Given the description of an element on the screen output the (x, y) to click on. 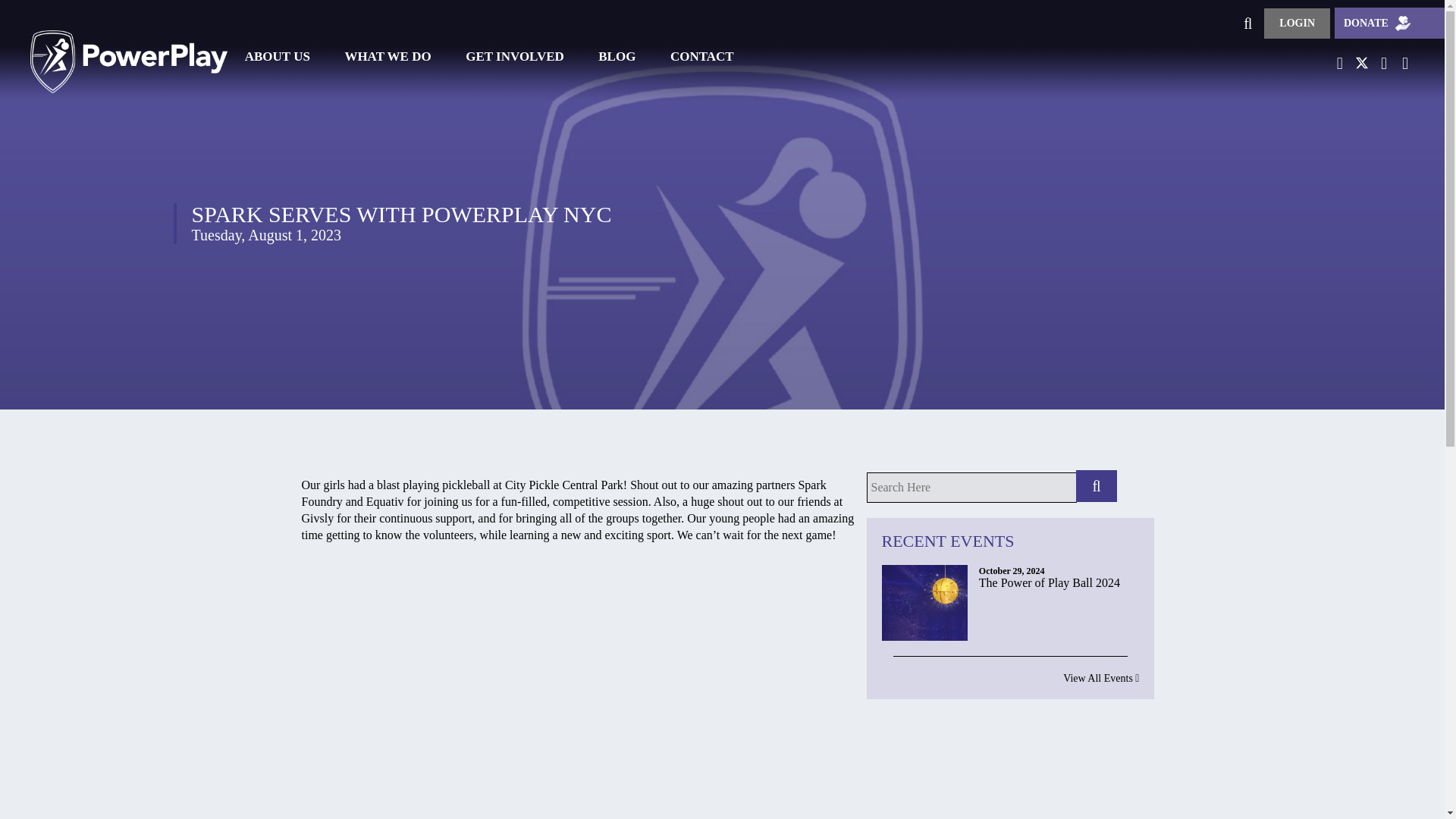
BLOG (617, 56)
CONTACT (701, 56)
View All Events (1009, 676)
LOGO (128, 46)
LOGIN (1010, 635)
WHAT WE DO (1296, 21)
GET INVOLVED (387, 56)
Spark serves with PowerPlay NYC (514, 56)
